Given the description of an element on the screen output the (x, y) to click on. 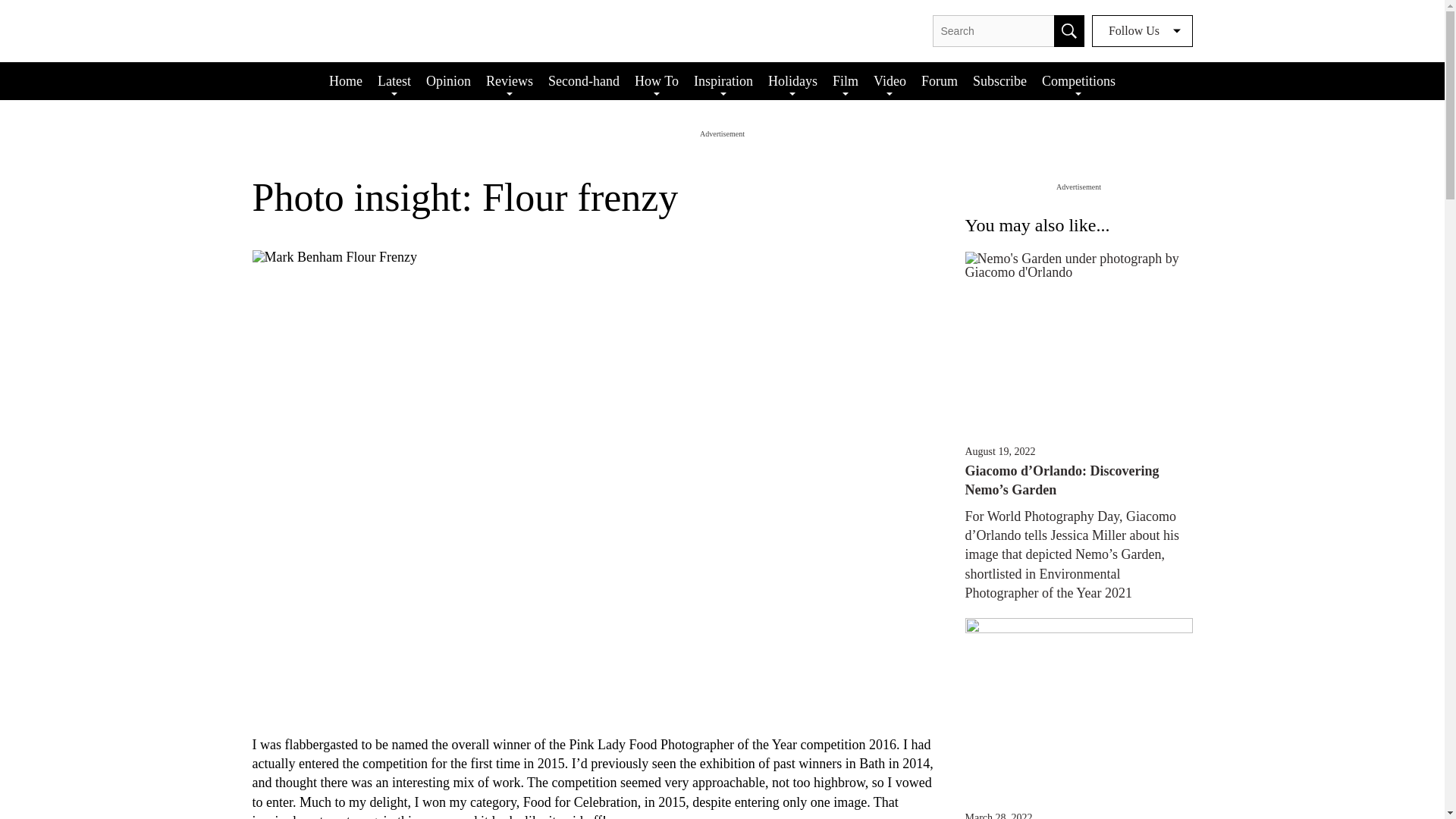
Search (1069, 30)
Follow Us (1142, 30)
Home (345, 80)
Opinion (449, 80)
Latest (394, 80)
Inspiration (722, 80)
Second-hand (583, 80)
Reviews (509, 80)
How To (656, 80)
Holidays (792, 80)
